Given the description of an element on the screen output the (x, y) to click on. 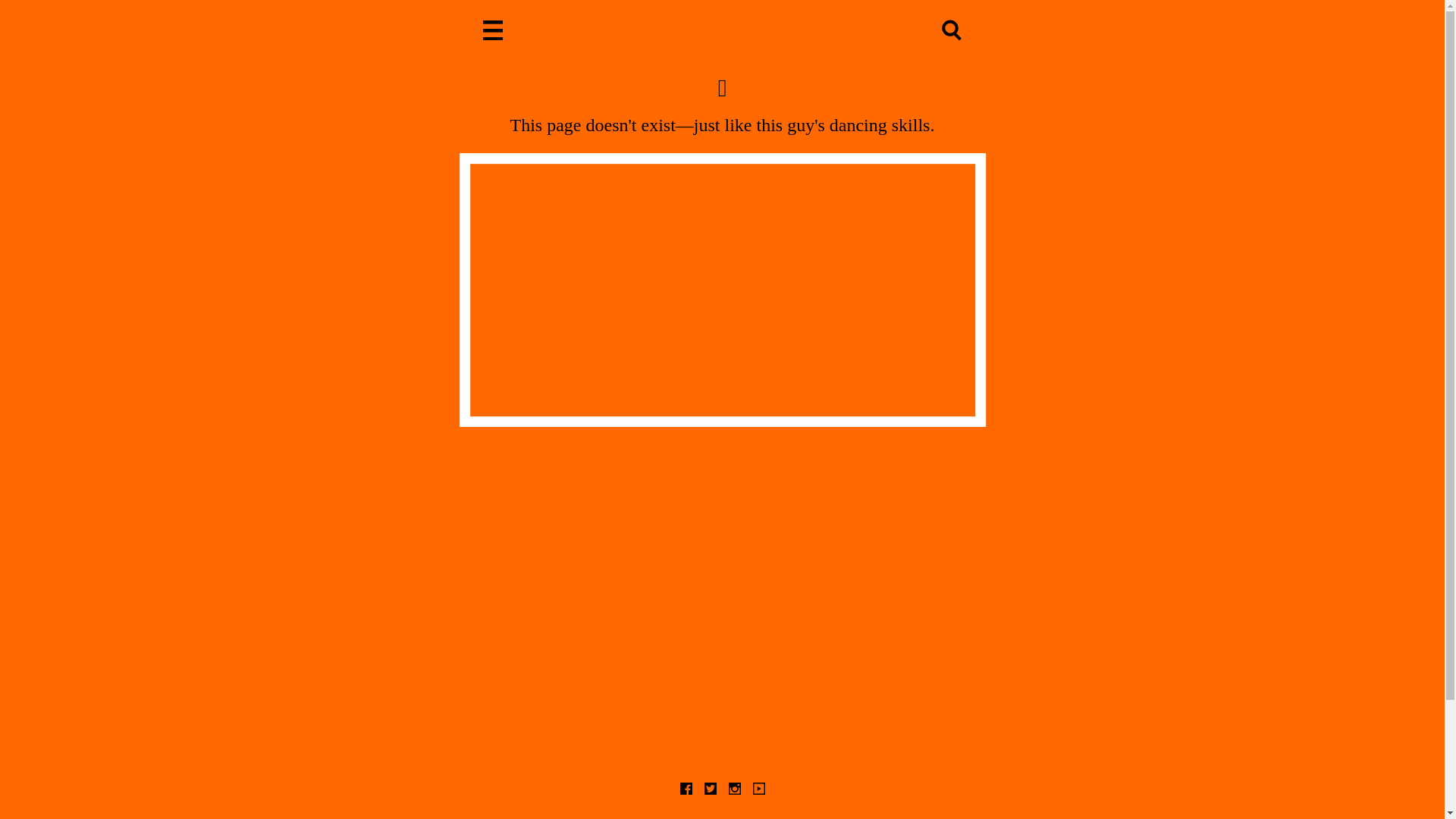
social-logos-insta1 Element type: text (734, 789)
social-logos-twitter1 Element type: text (709, 789)
web-page-mockAsset 14 Element type: text (493, 31)
social-logos-youtube1 Element type: text (758, 789)
social-logos-FB1 Element type: text (685, 789)
